Given the description of an element on the screen output the (x, y) to click on. 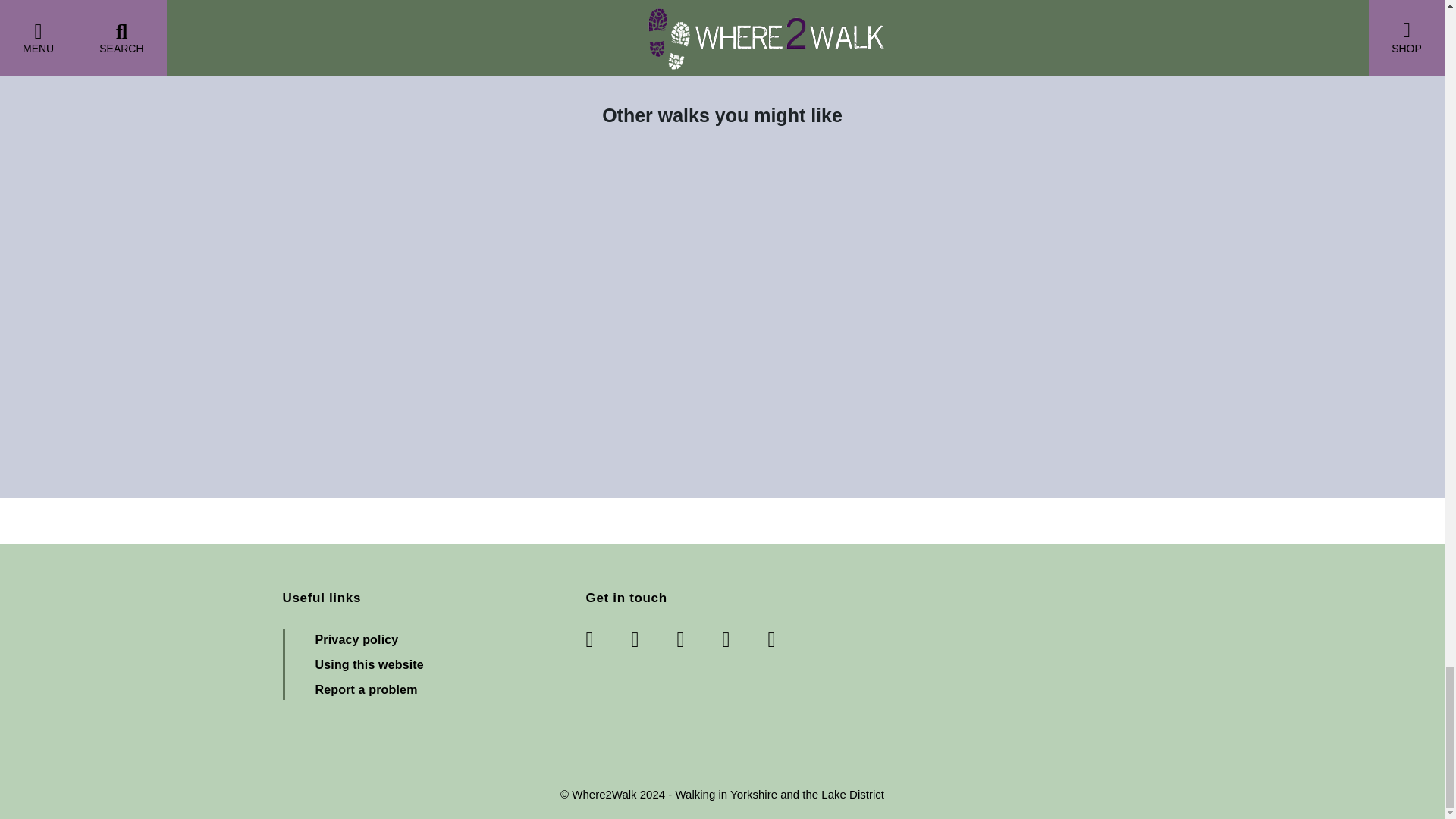
Find me on Instagram (699, 640)
Post Comment (341, 2)
Privacy policy (356, 639)
Using this website (369, 664)
Find me on YouTube (744, 640)
Report a problem (366, 689)
Find me on Twitter (653, 640)
Email me (778, 640)
Find me on Facebook (607, 640)
